Given the description of an element on the screen output the (x, y) to click on. 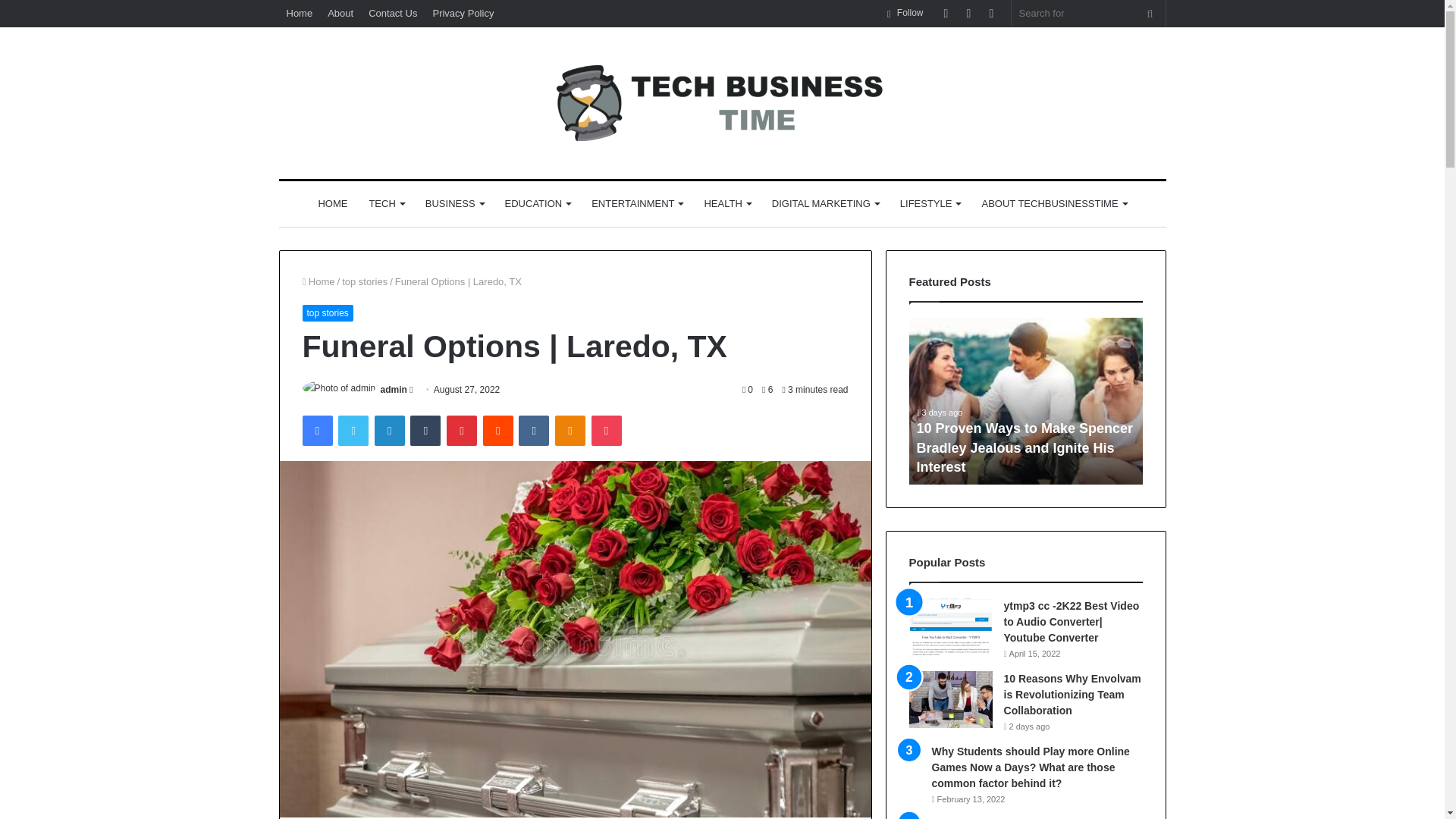
Search for (1149, 13)
Reddit (498, 430)
Odnoklassniki (569, 430)
Home (317, 281)
Privacy Policy (462, 13)
Tumblr (425, 430)
ABOUT TECHBUSINESSTIME (1054, 203)
Facebook (316, 430)
LinkedIn (389, 430)
Home (299, 13)
